Given the description of an element on the screen output the (x, y) to click on. 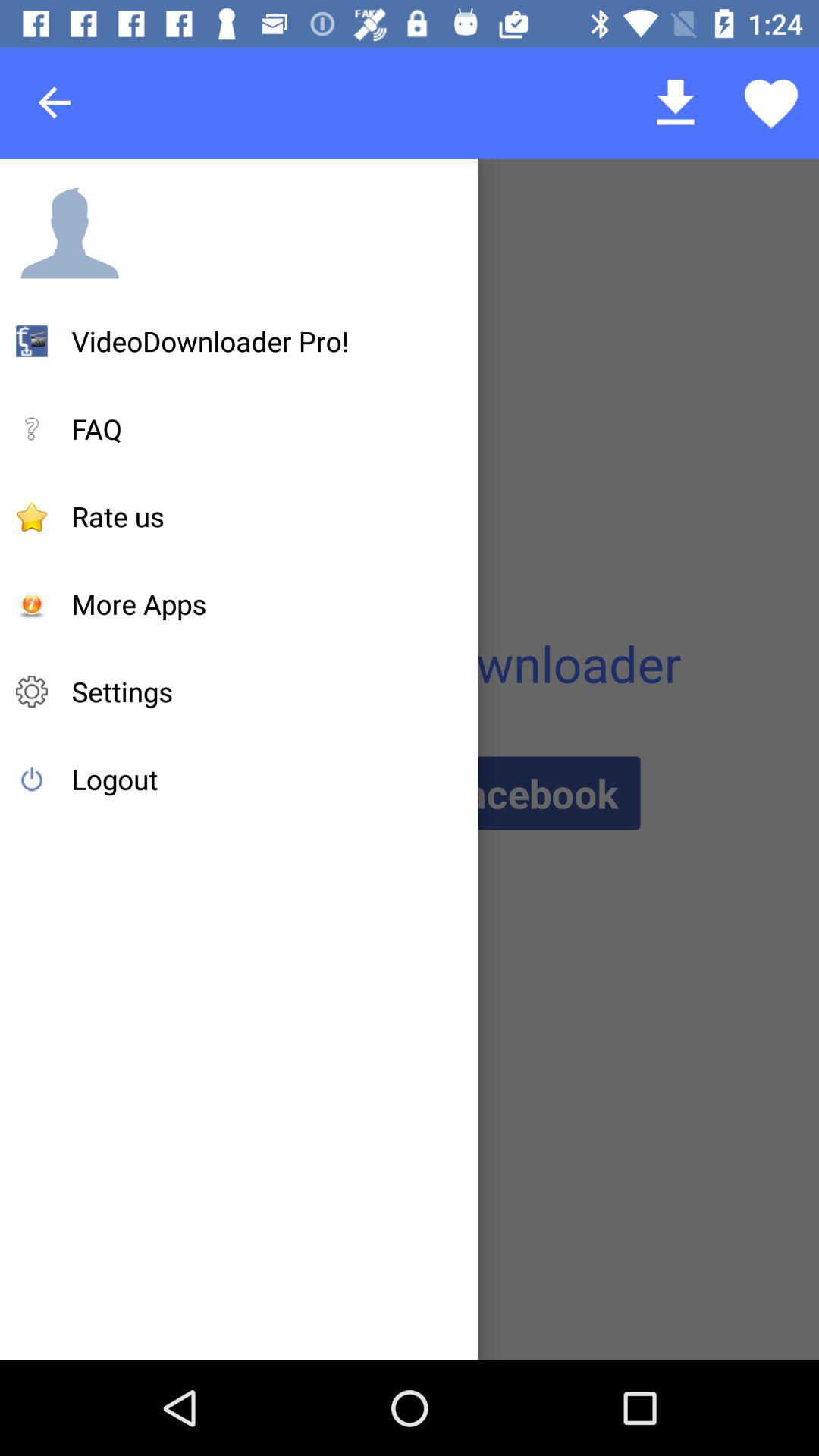
select icon below the videodownloader pro! item (96, 428)
